Given the description of an element on the screen output the (x, y) to click on. 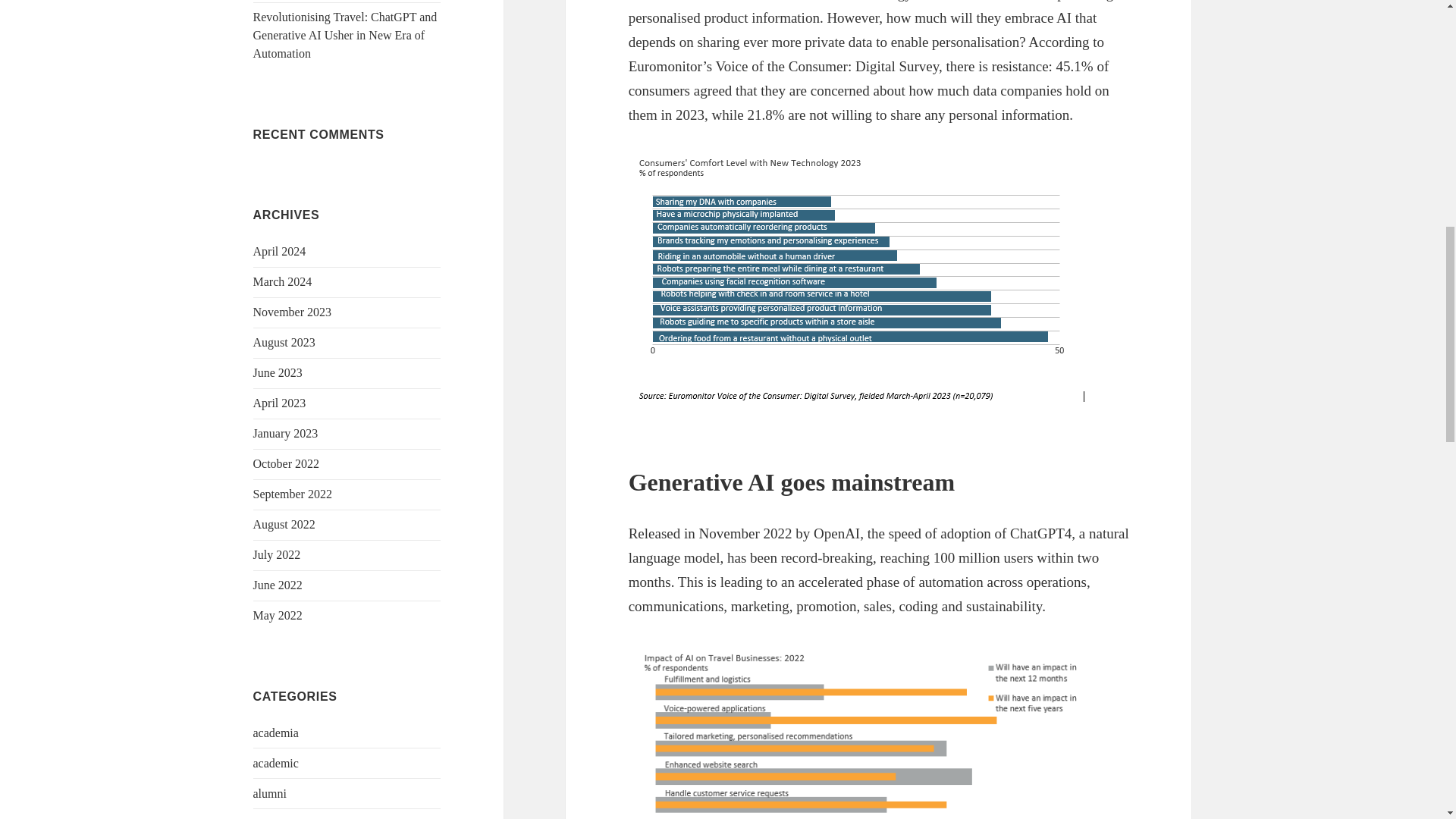
March 2024 (283, 281)
August 2022 (284, 523)
April 2023 (279, 402)
academic (275, 762)
June 2022 (277, 584)
July 2022 (277, 554)
alumni (269, 793)
April 2024 (279, 250)
Awards (271, 818)
August 2023 (284, 341)
October 2022 (286, 463)
academia (275, 732)
September 2022 (292, 493)
June 2023 (277, 372)
